Given the description of an element on the screen output the (x, y) to click on. 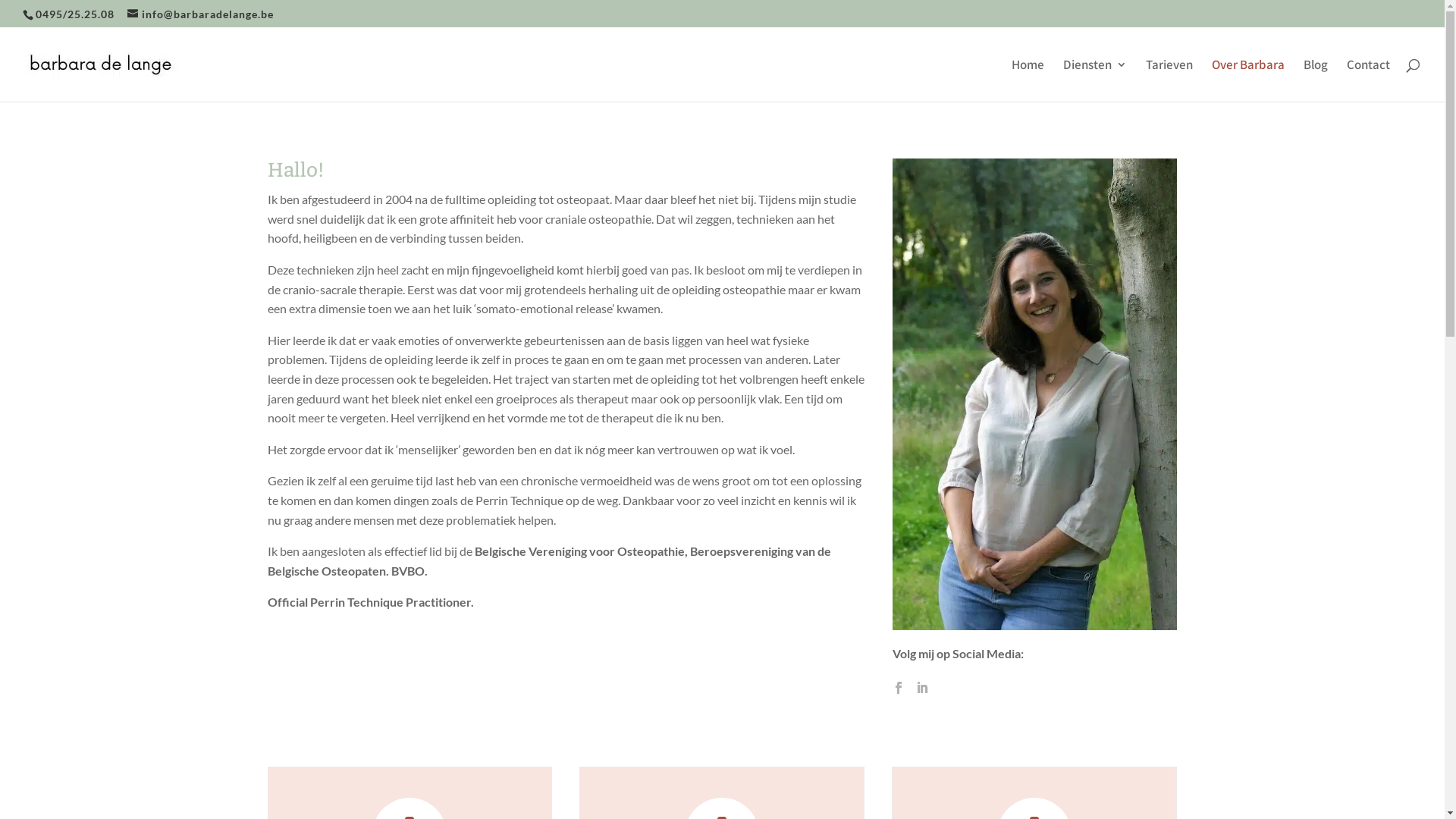
Over Barbara Element type: text (1247, 80)
Tarieven Element type: text (1168, 80)
Craniosacraal-therapie-osteopathie Element type: hover (1033, 394)
Contact Element type: text (1368, 80)
Blog Element type: text (1315, 80)
info@barbaradelange.be Element type: text (200, 13)
Home Element type: text (1027, 80)
Diensten Element type: text (1094, 80)
